Given the description of an element on the screen output the (x, y) to click on. 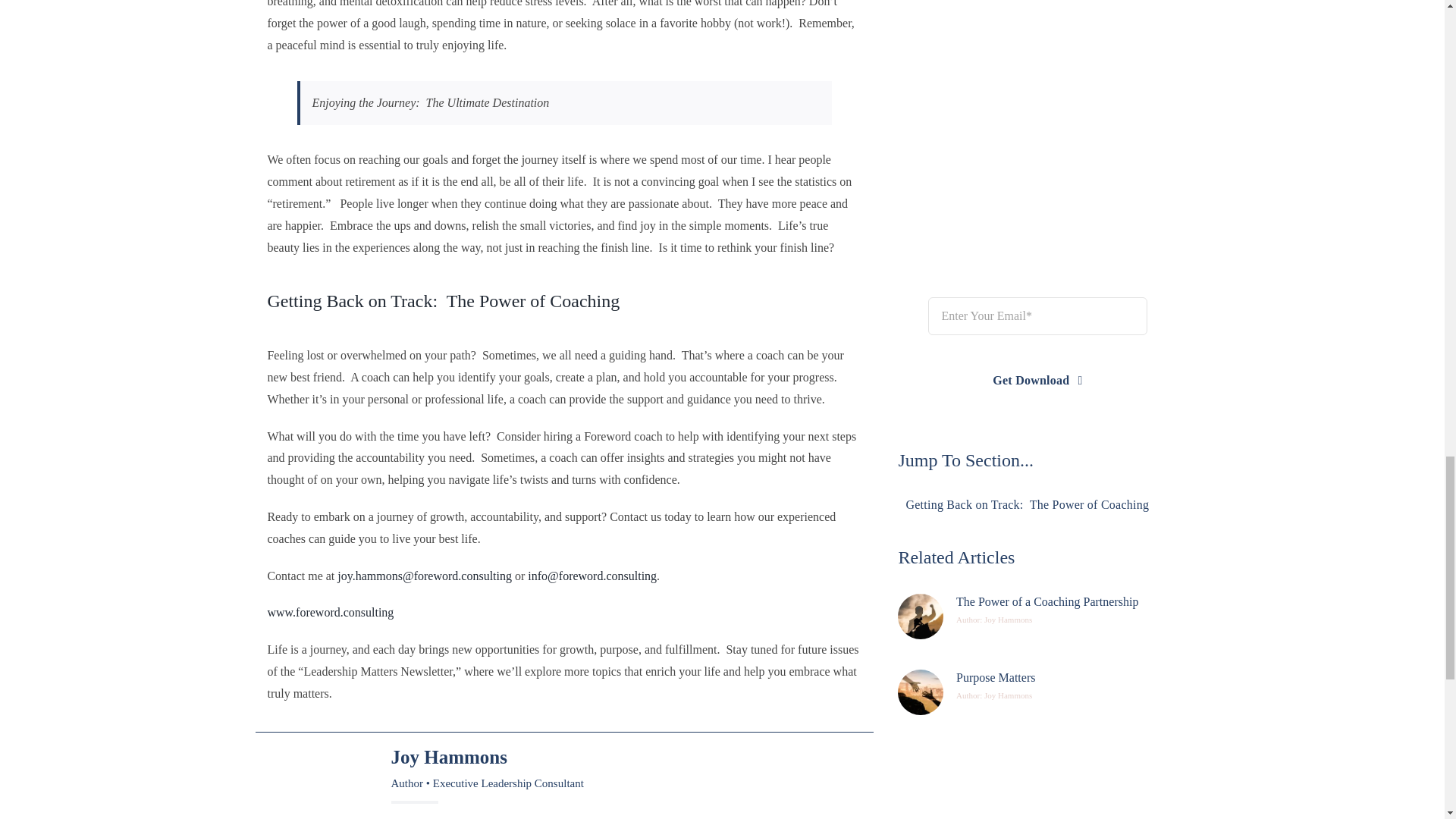
www.foreword.consulting (329, 612)
